Given the description of an element on the screen output the (x, y) to click on. 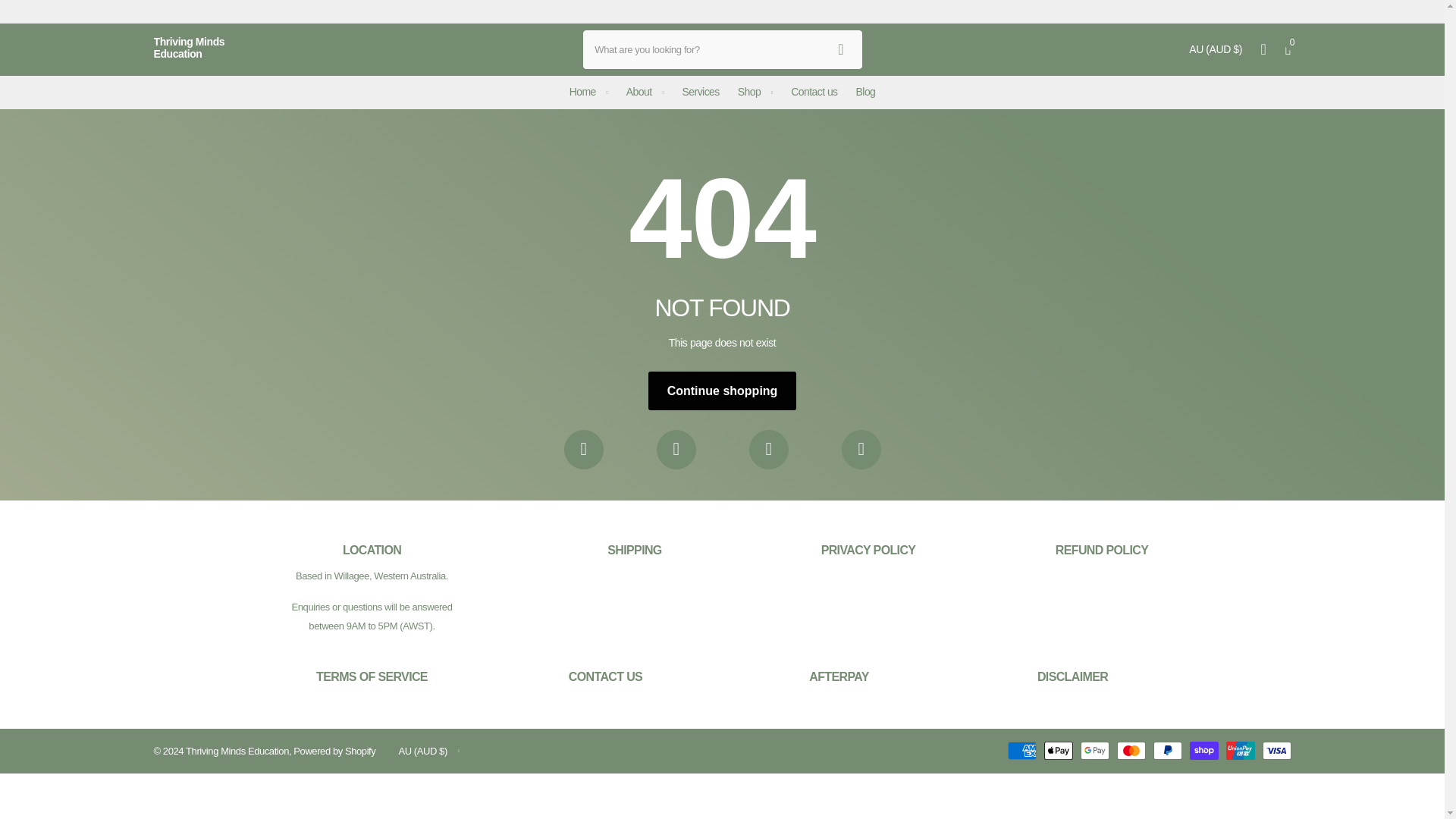
Apple Pay (1057, 751)
Shop Pay (1203, 751)
Google Pay (1094, 751)
Visa (1276, 751)
Union Pay (1239, 751)
Mastercard (1130, 751)
PayPal (1166, 751)
American Express (1021, 751)
